Given the description of an element on the screen output the (x, y) to click on. 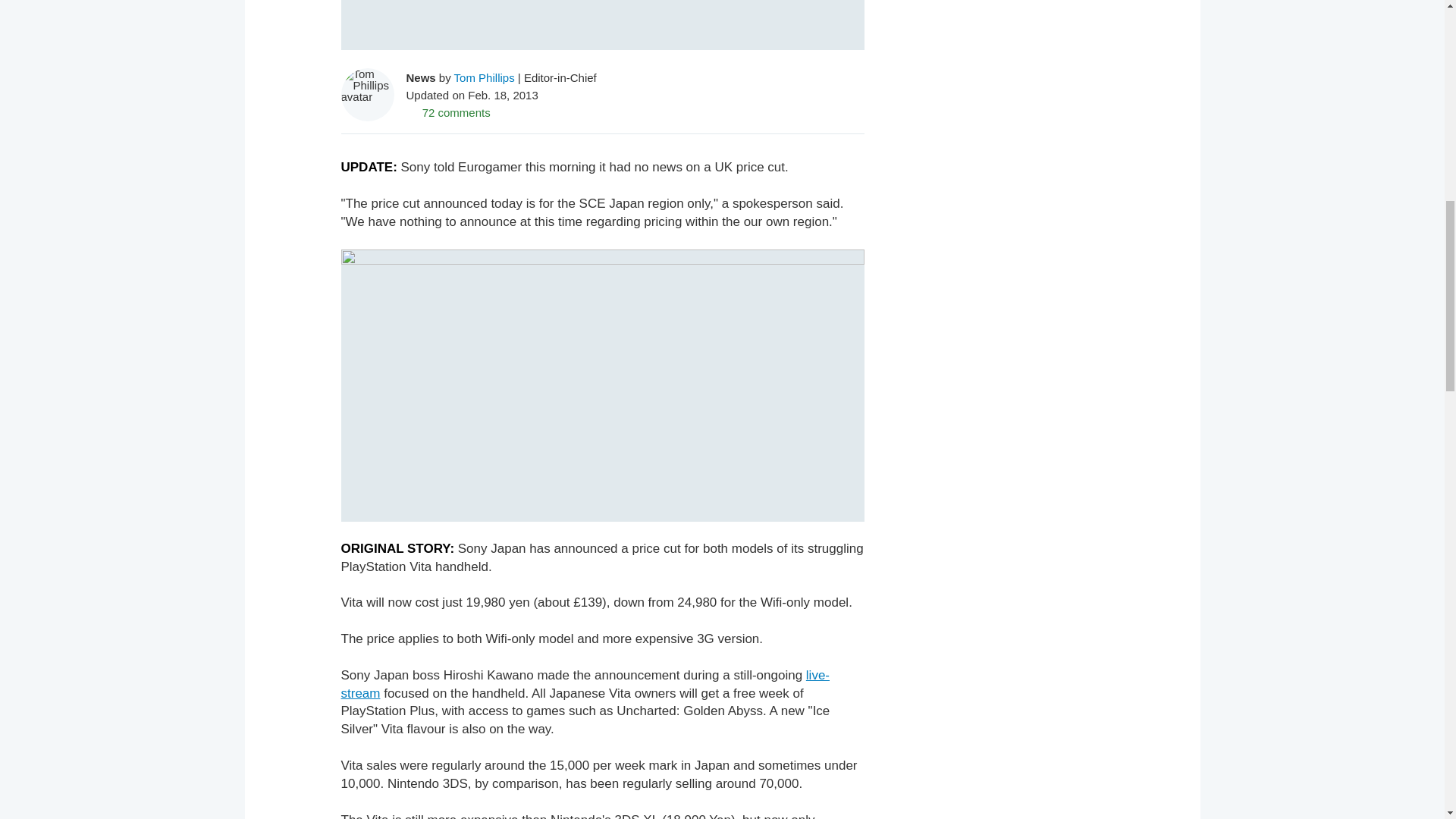
Tom Phillips (484, 77)
72 comments (448, 112)
live-stream (584, 684)
